Given the description of an element on the screen output the (x, y) to click on. 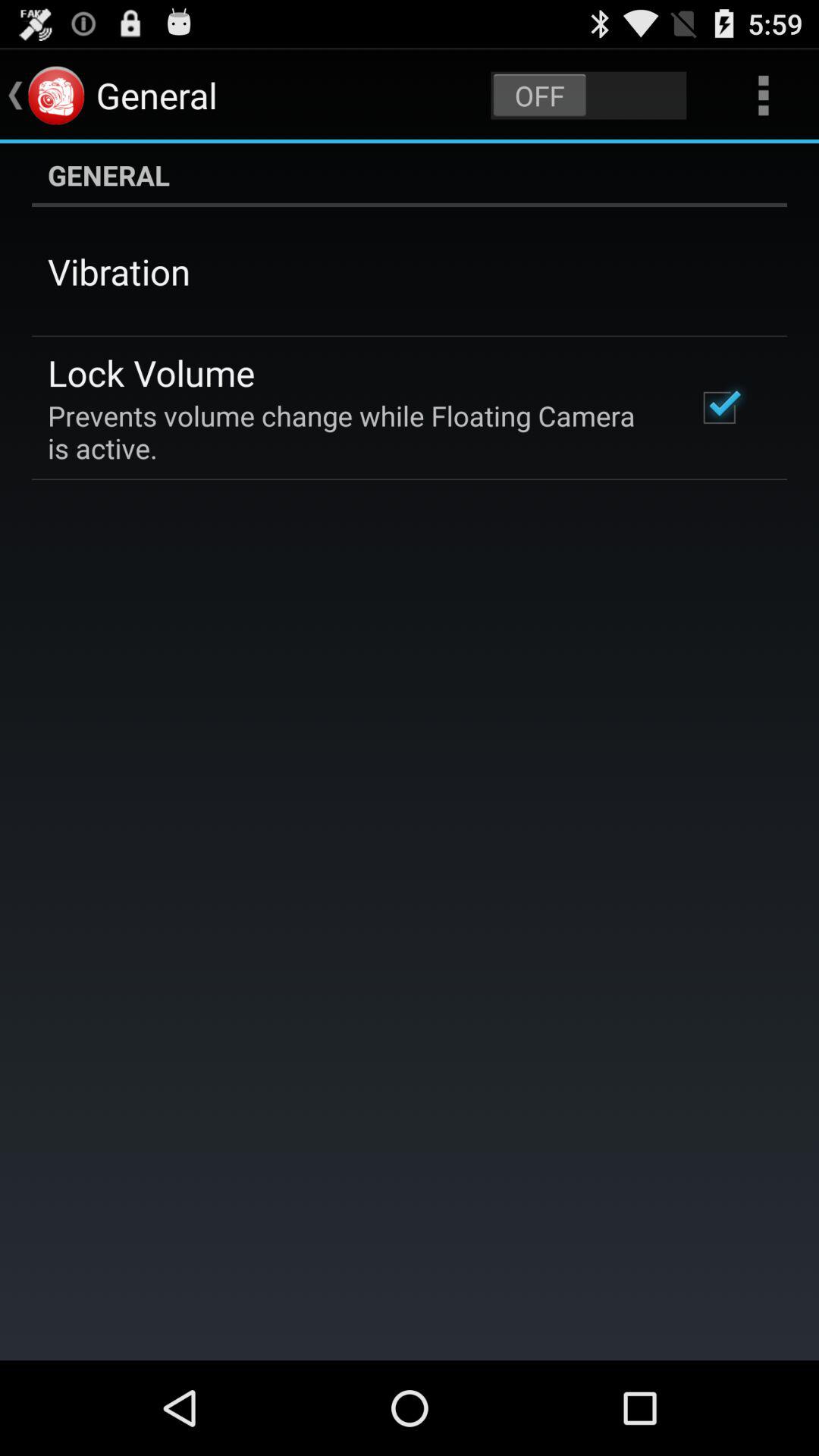
on off toggle (588, 95)
